Given the description of an element on the screen output the (x, y) to click on. 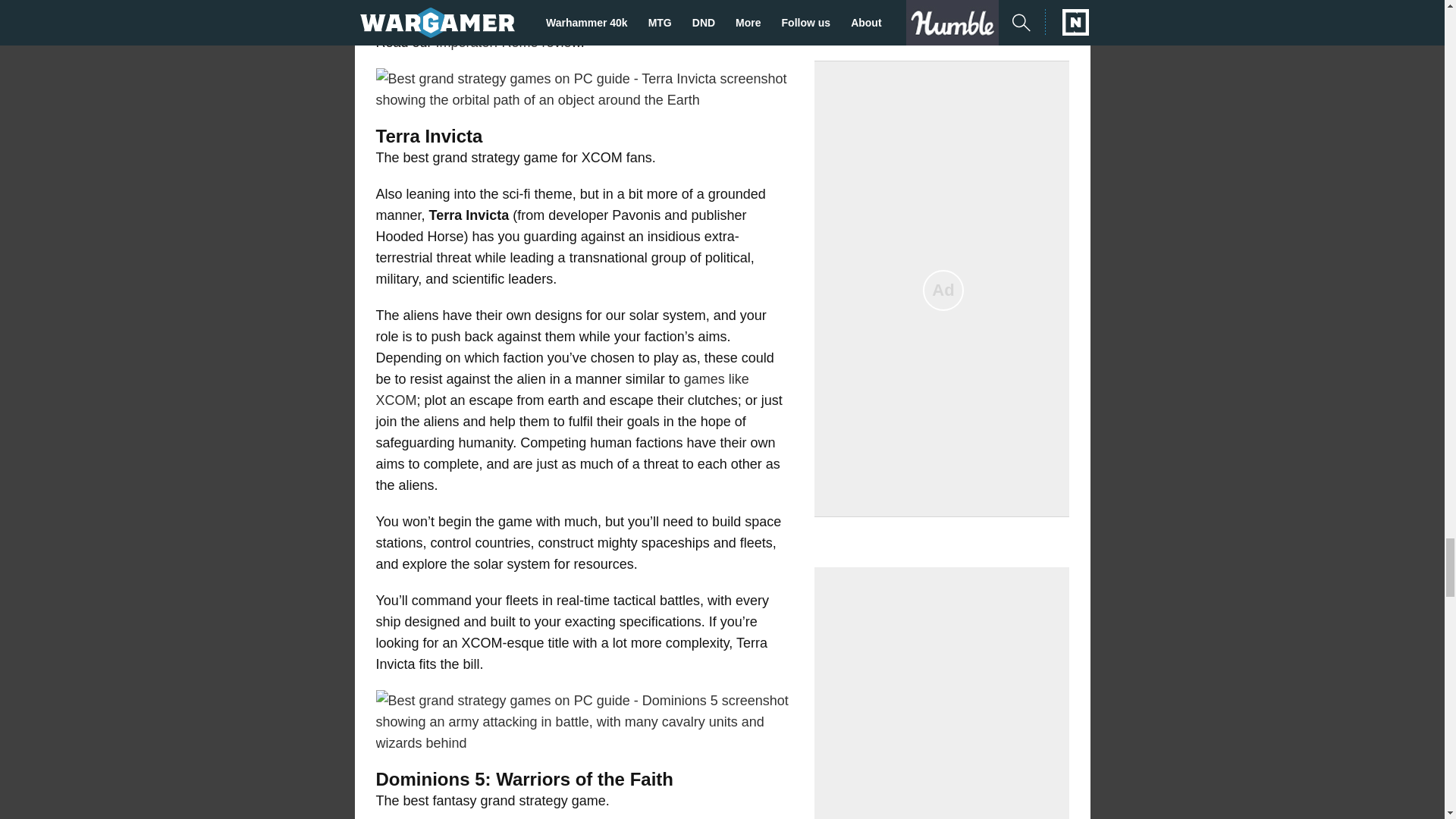
best-grand-strategy-games-guide-terra-invicta-tracking-orbit (584, 88)
best-grand-strategy-games-guide-dominions-5-army-attacks (584, 721)
